Given the description of an element on the screen output the (x, y) to click on. 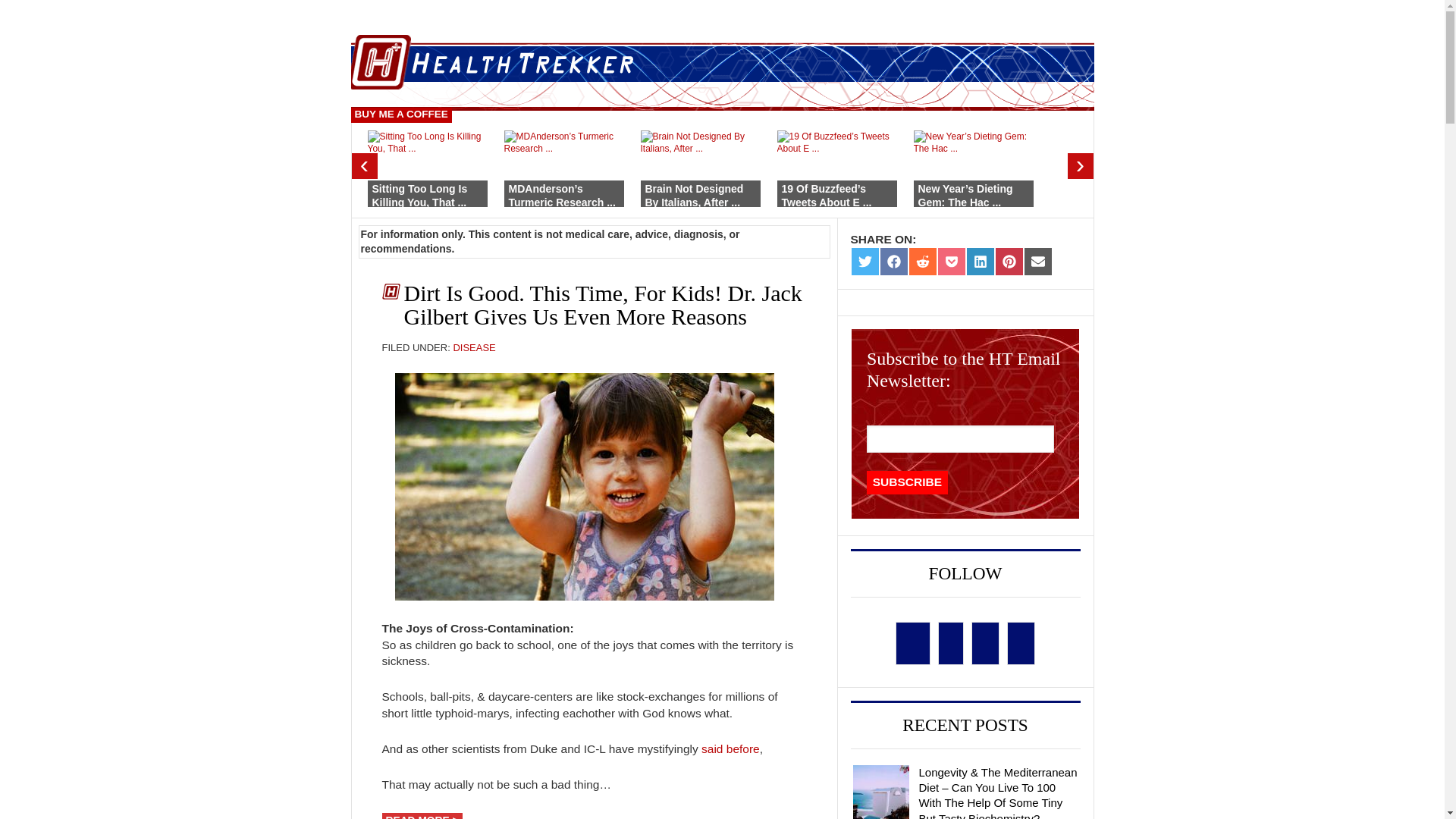
said before (730, 748)
Brain Not Designed By Italians, After ... (693, 195)
Outdoor kids are happy kids! (584, 486)
Sitting Too Long Is Killing You, That ... (419, 195)
SUBSCRIBE (906, 482)
BUY ME A COFFEE (400, 115)
DISEASE (473, 347)
